Given the description of an element on the screen output the (x, y) to click on. 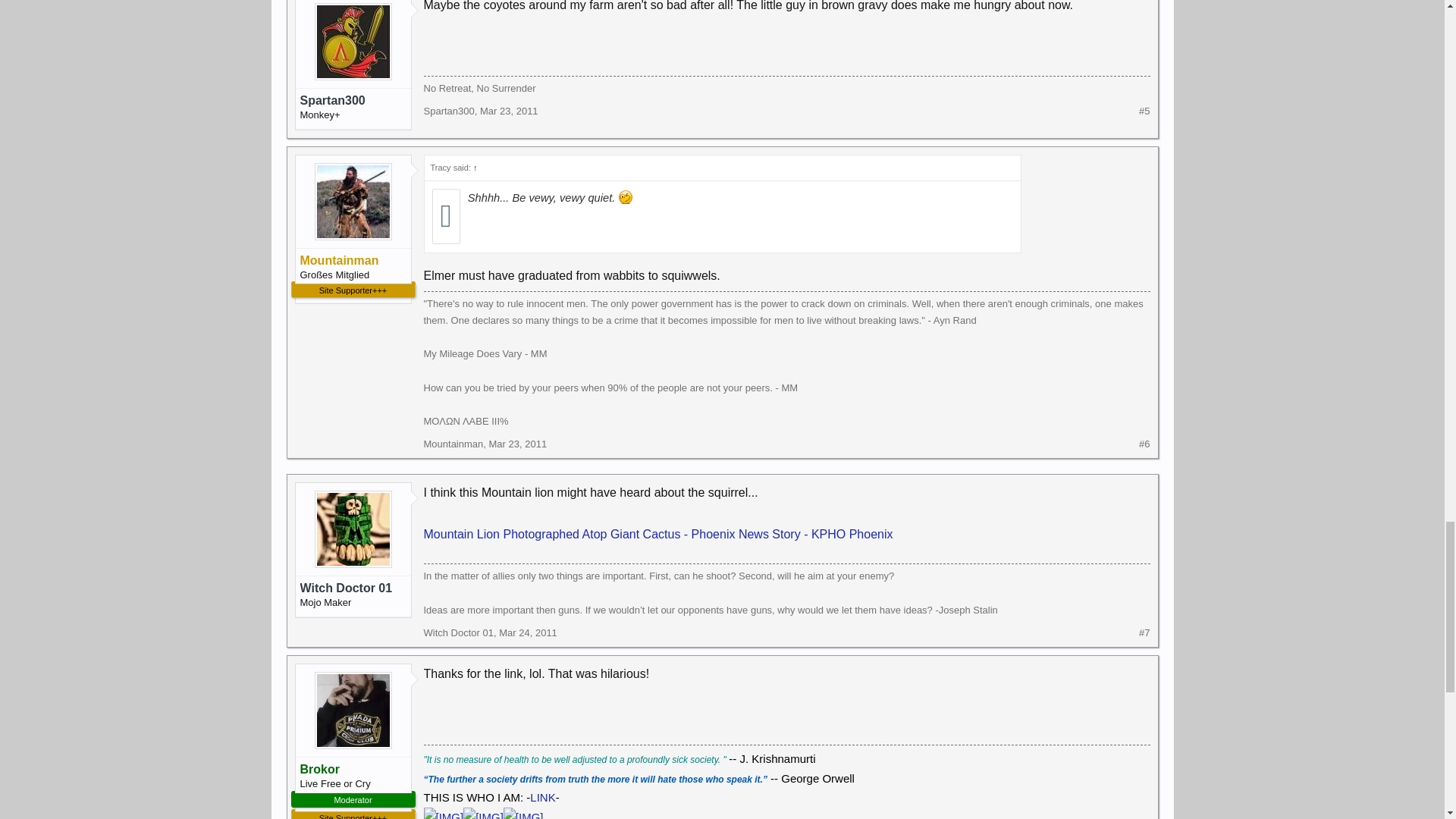
Mar 23, 2011 (509, 111)
Spartan300 (448, 111)
Spartan300 (352, 100)
